Given the description of an element on the screen output the (x, y) to click on. 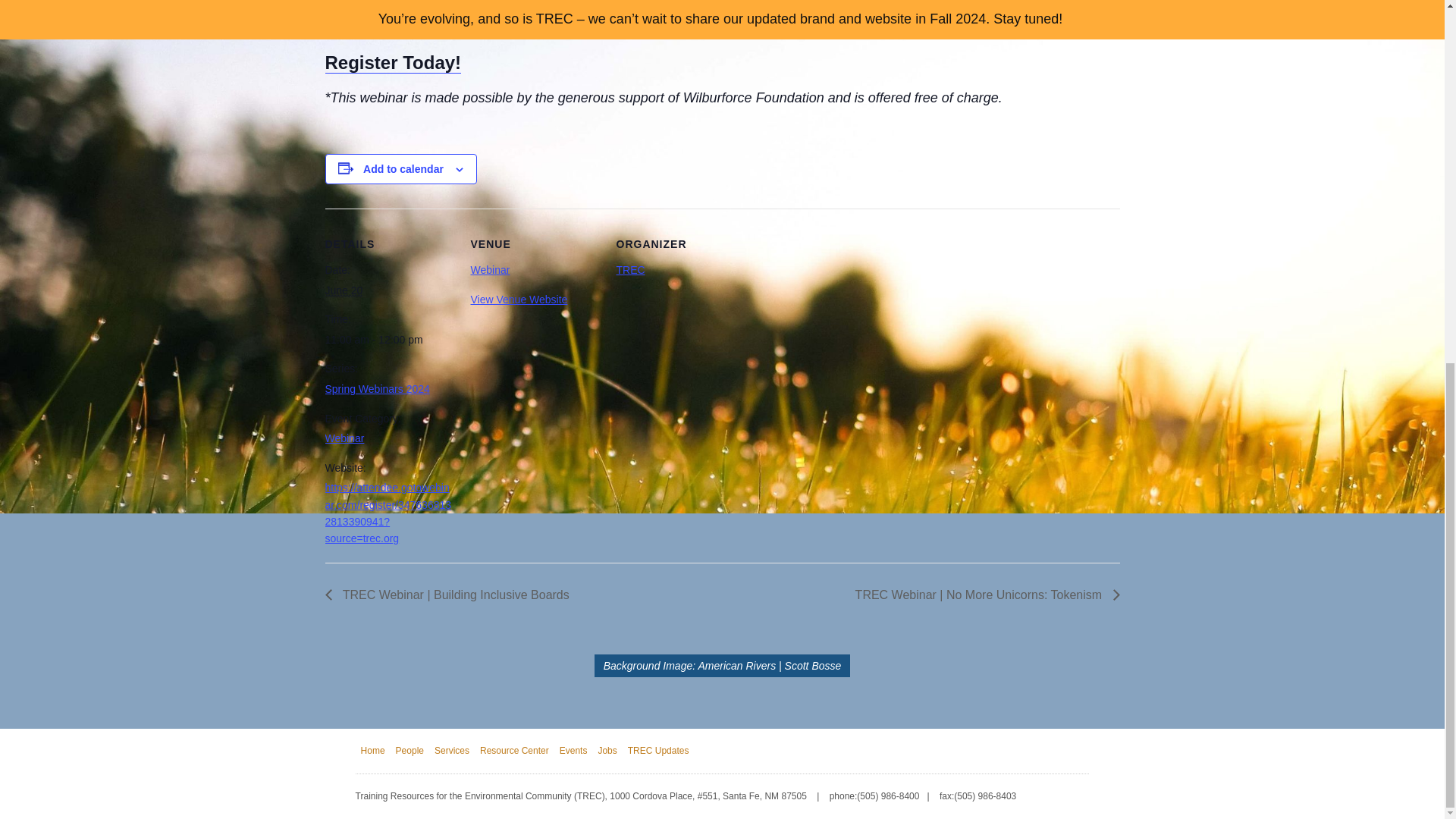
Spring Webinars 2024 (376, 388)
2024-06-20 (343, 290)
TREC (630, 269)
2024-06-20 (387, 339)
